Given the description of an element on the screen output the (x, y) to click on. 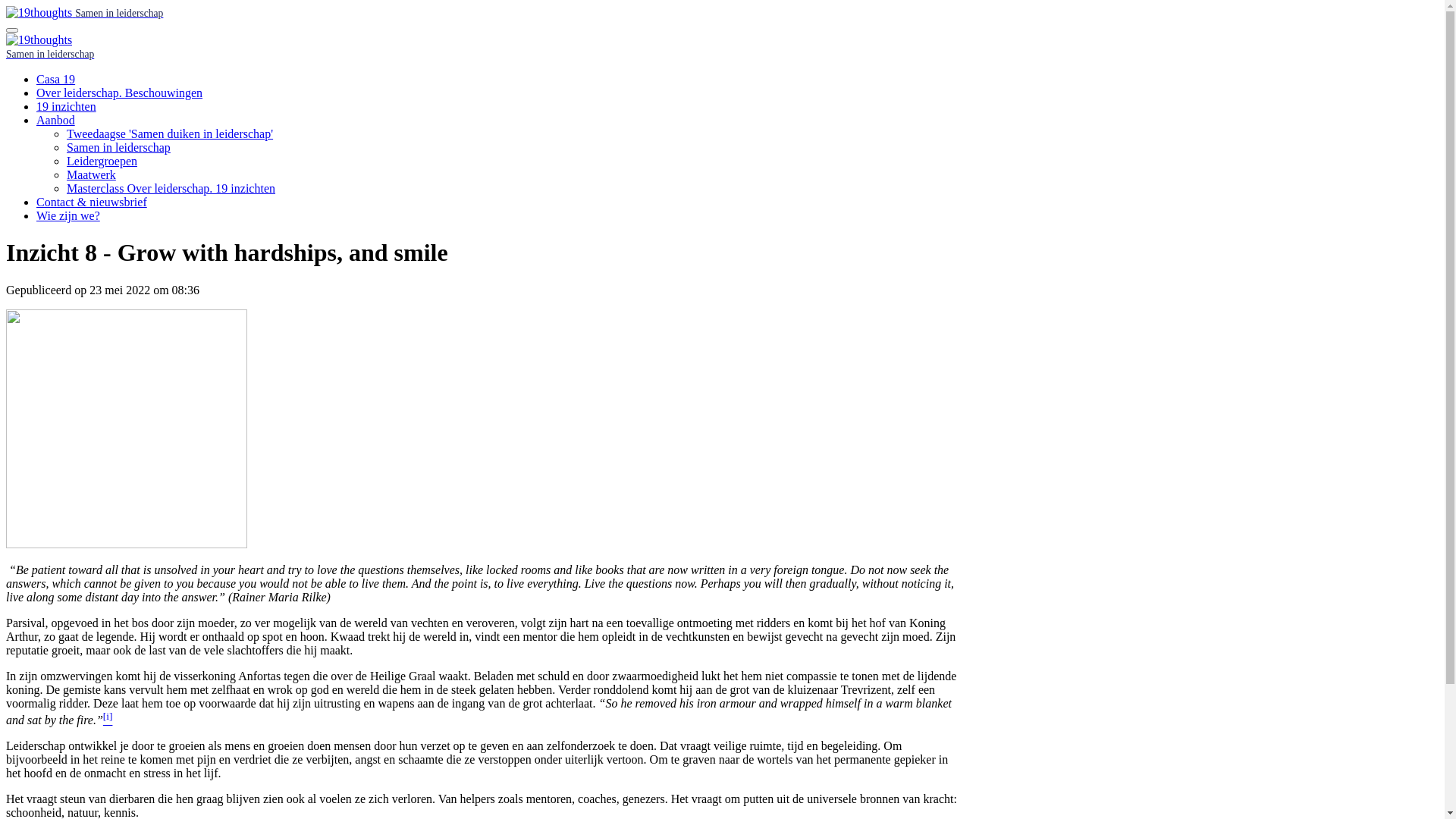
Over leiderschap. Beschouwingen Element type: text (119, 92)
Aanbod Element type: text (55, 119)
Samen in leiderschap Element type: text (118, 147)
Contact & nieuwsbrief Element type: text (91, 201)
Maatwerk Element type: text (91, 174)
Wie zijn we? Element type: text (68, 215)
Samen in leiderschap Element type: text (50, 53)
19thoughts Element type: hover (39, 40)
[i] Element type: text (107, 719)
Masterclass Over leiderschap. 19 inzichten Element type: text (170, 188)
19thoughts Element type: hover (39, 12)
Leidergroepen Element type: text (101, 160)
Tweedaagse 'Samen duiken in leiderschap' Element type: text (169, 133)
19 inzichten Element type: text (66, 106)
Samen in leiderschap Element type: text (84, 12)
Casa 19 Element type: text (55, 78)
